Given the description of an element on the screen output the (x, y) to click on. 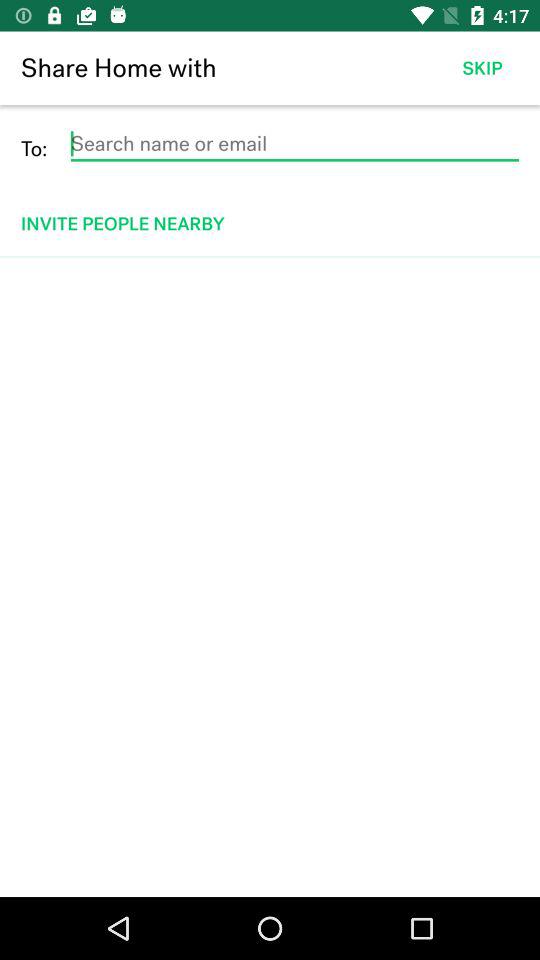
scroll until the skip icon (482, 68)
